Given the description of an element on the screen output the (x, y) to click on. 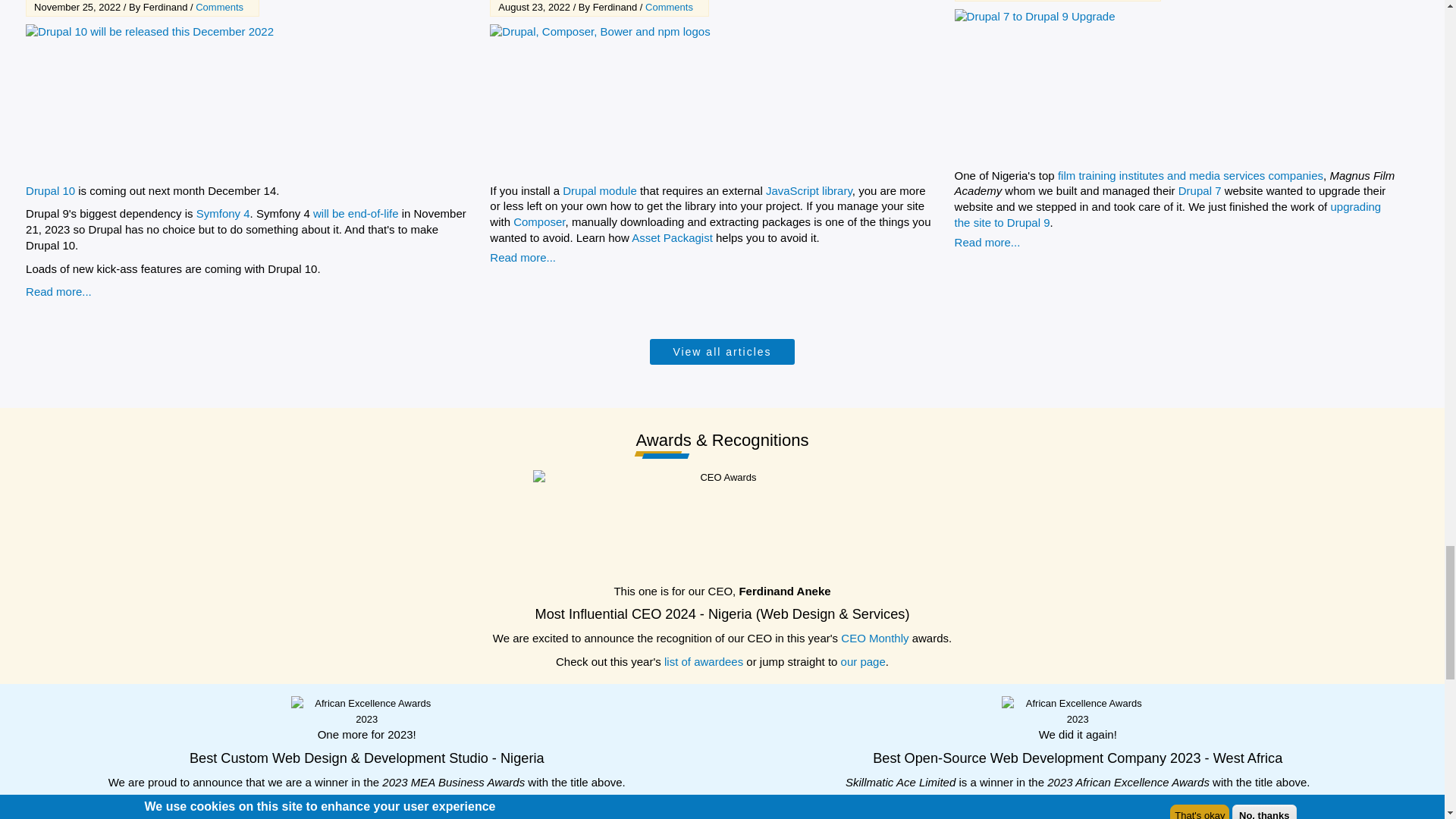
Drupal 7 to Drupal 9 Upgrade (1137, 84)
Drupal 10 release (208, 100)
Drupal, Composer, Bower and npm logos (671, 100)
